Given the description of an element on the screen output the (x, y) to click on. 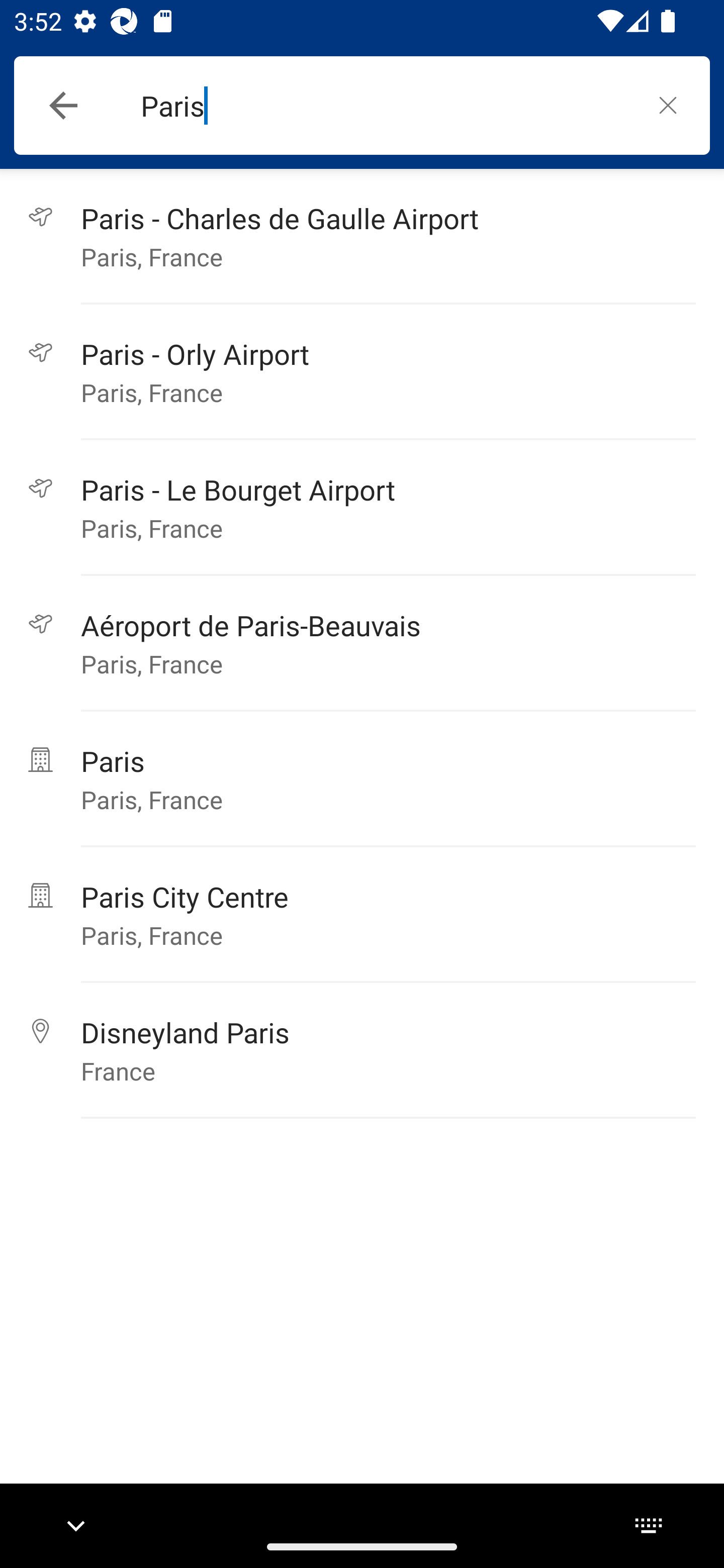
Navigate up (62, 105)
놕 (667, 104)
Paris (382, 105)
끭 Paris - Charles de Gaulle Airport Paris, France (362, 236)
끭 Paris - Orly Airport Paris, France (362, 372)
끭 Paris - Le Bourget Airport Paris, France (362, 507)
끭 Aéroport de Paris-Beauvais Paris, France (362, 643)
넭 Paris Paris, France (362, 778)
넭 Paris City Centre Paris, France (362, 914)
낍 Disneyland Paris France (362, 1050)
